Given the description of an element on the screen output the (x, y) to click on. 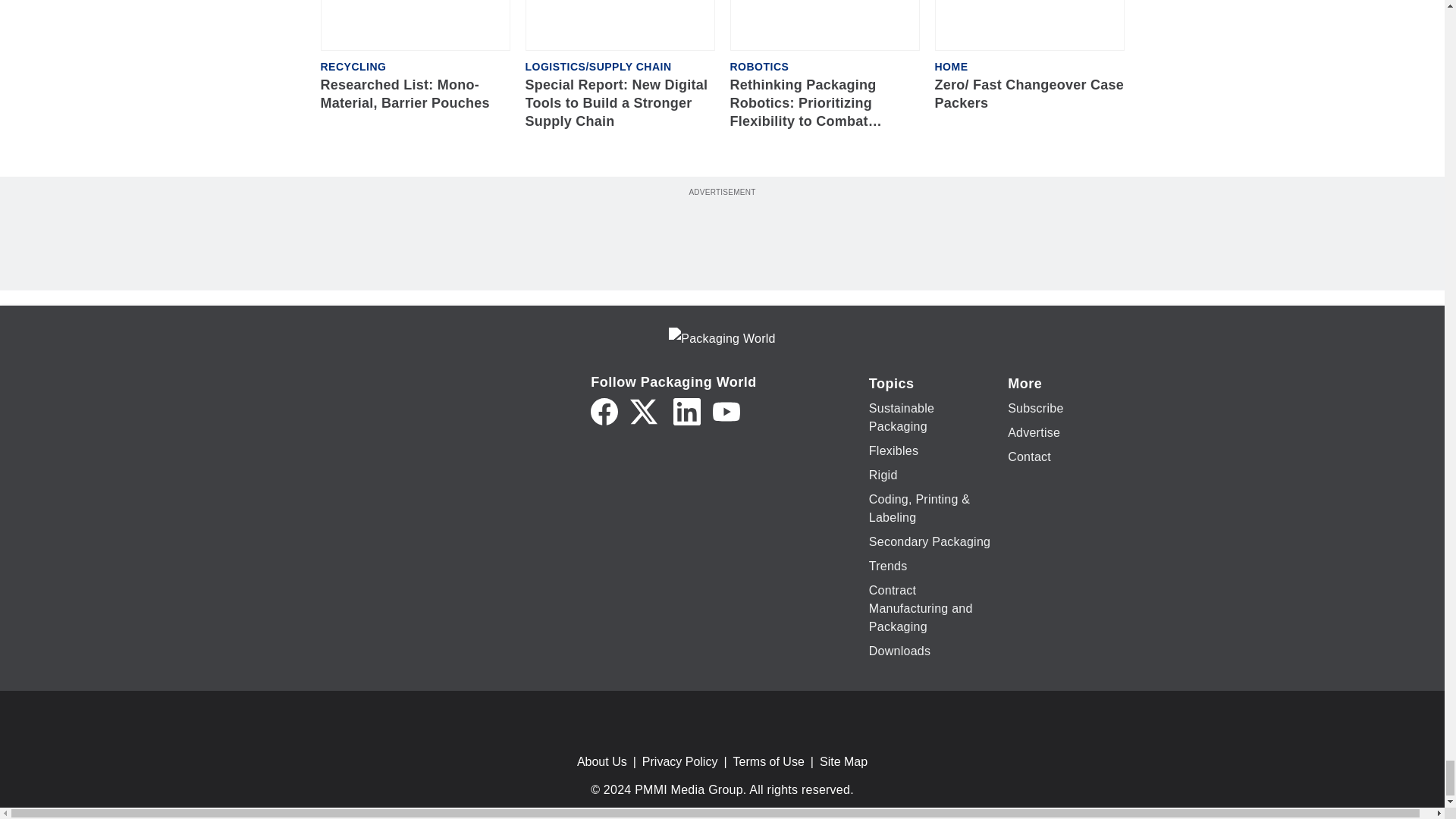
YouTube icon (726, 411)
Facebook icon (604, 411)
LinkedIn icon (686, 411)
Twitter X icon (644, 411)
